Given the description of an element on the screen output the (x, y) to click on. 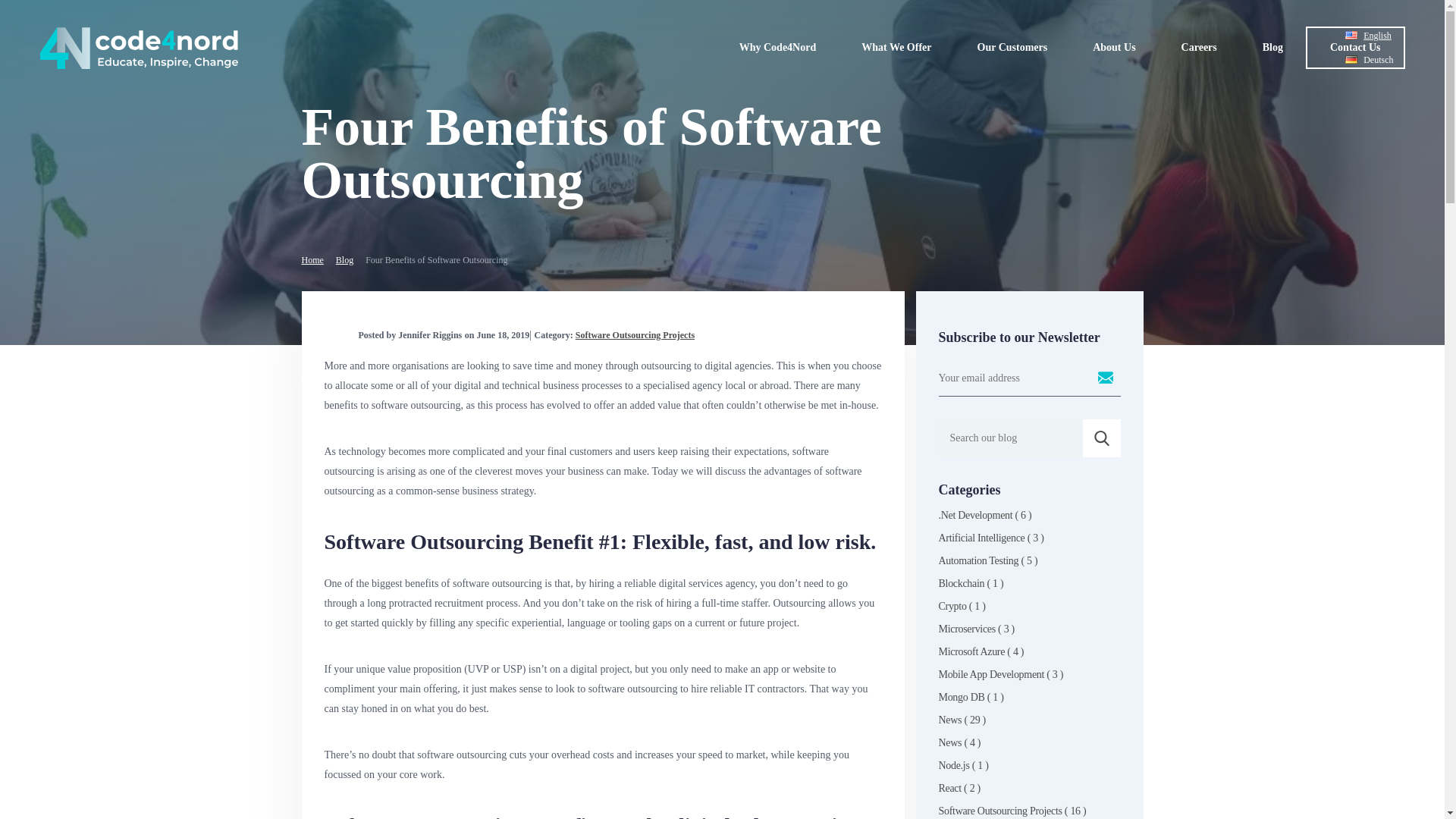
Careers (1199, 47)
Our Customers (1011, 47)
Contact Us (1355, 47)
Software Outsourcing Projects (634, 335)
What We Offer (895, 47)
Home (312, 259)
About Us (1113, 47)
Deutsch (1377, 59)
Why Code4Nord (778, 47)
English (1376, 35)
